Given the description of an element on the screen output the (x, y) to click on. 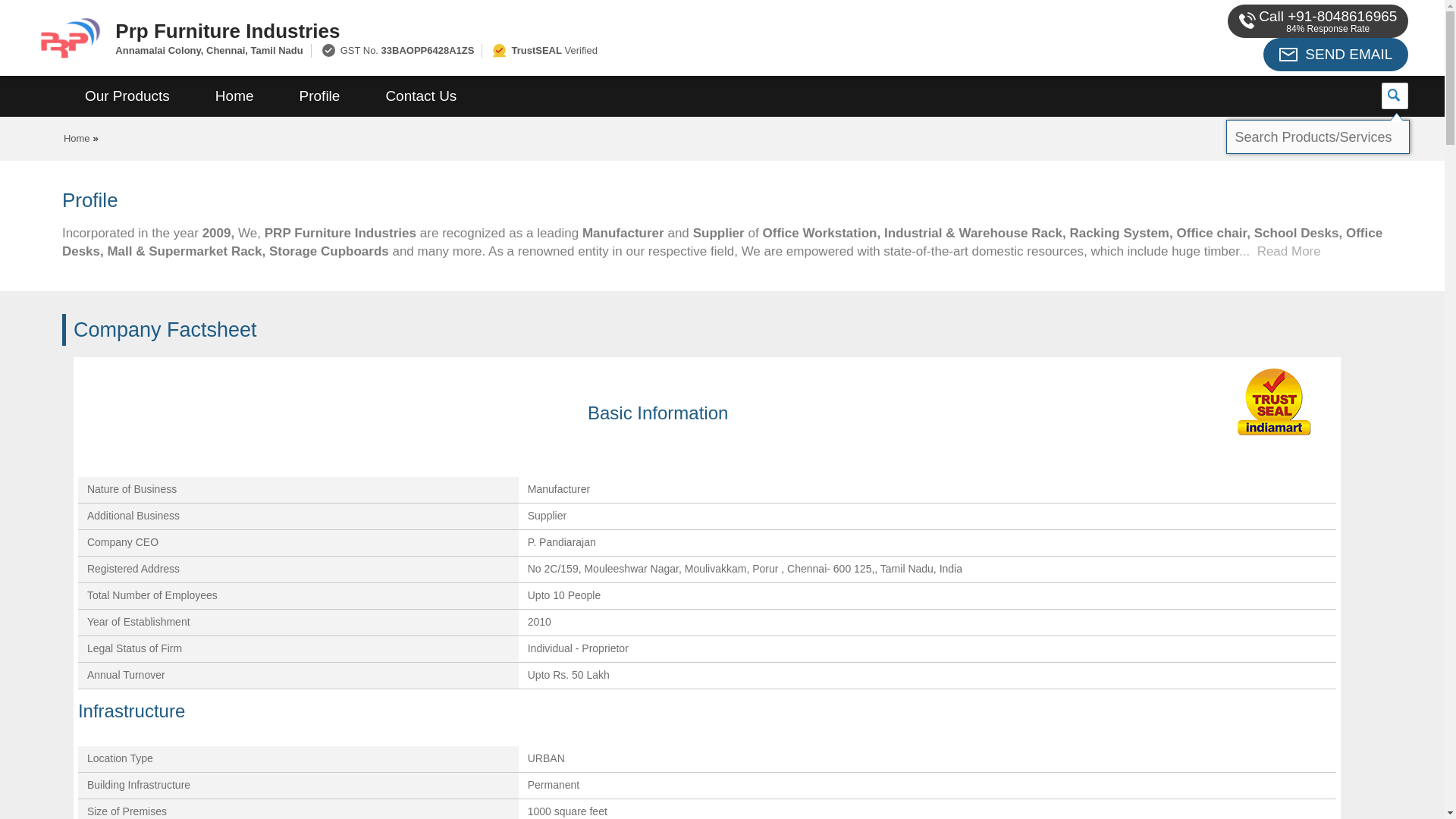
Profile (319, 96)
Home (234, 96)
Home (77, 138)
Our Products (127, 96)
Contact Us (420, 96)
Prp Furniture Industries (552, 31)
